Given the description of an element on the screen output the (x, y) to click on. 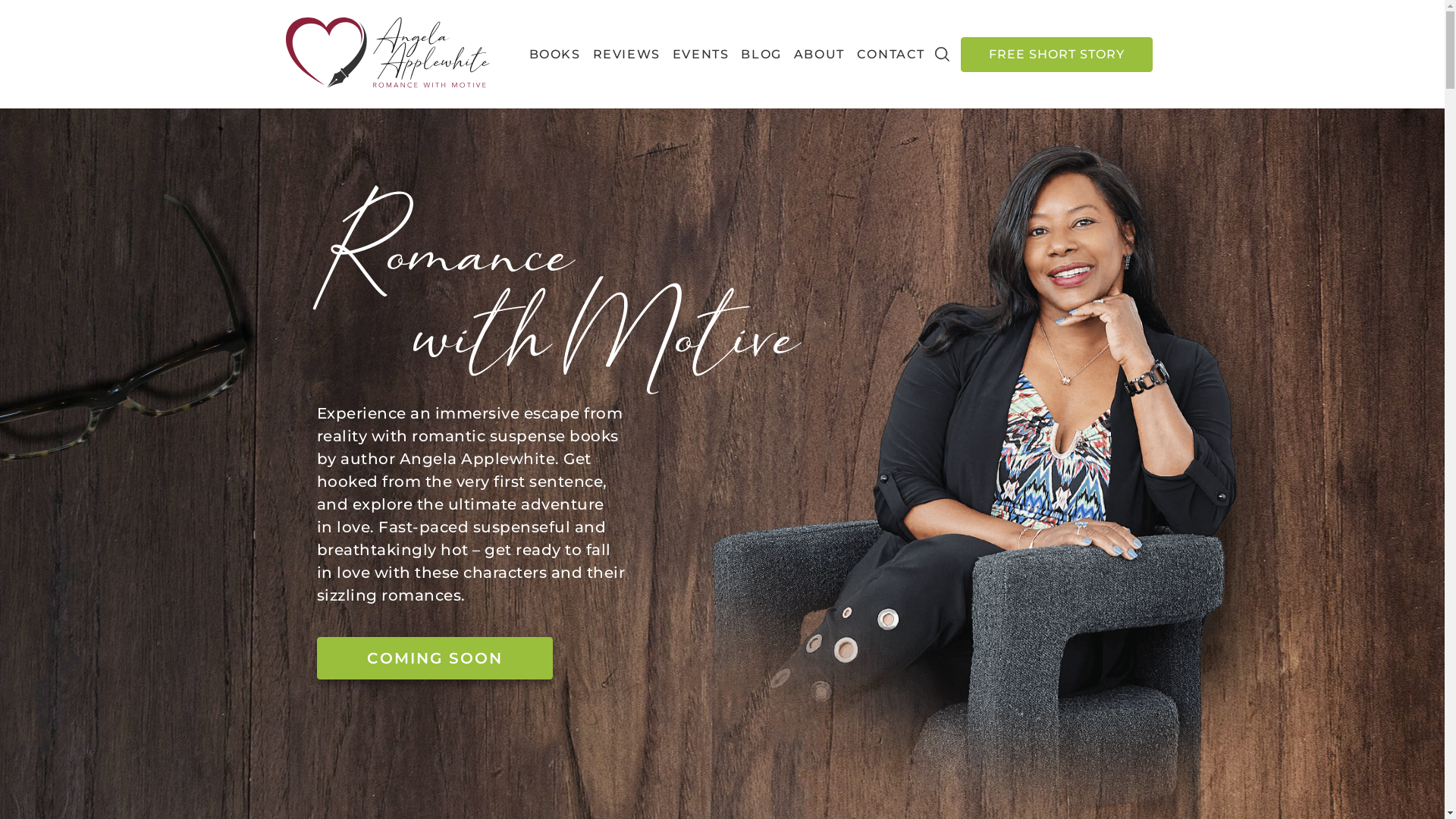
COMING SOON Element type: text (434, 658)
ABOUT Element type: text (818, 54)
FREE SHORT STORY Element type: text (1056, 54)
EVENTS Element type: text (700, 54)
BOOKS Element type: text (554, 54)
REVIEWS Element type: text (626, 54)
BLOG Element type: text (760, 54)
CONTACT Element type: text (890, 54)
